Given the description of an element on the screen output the (x, y) to click on. 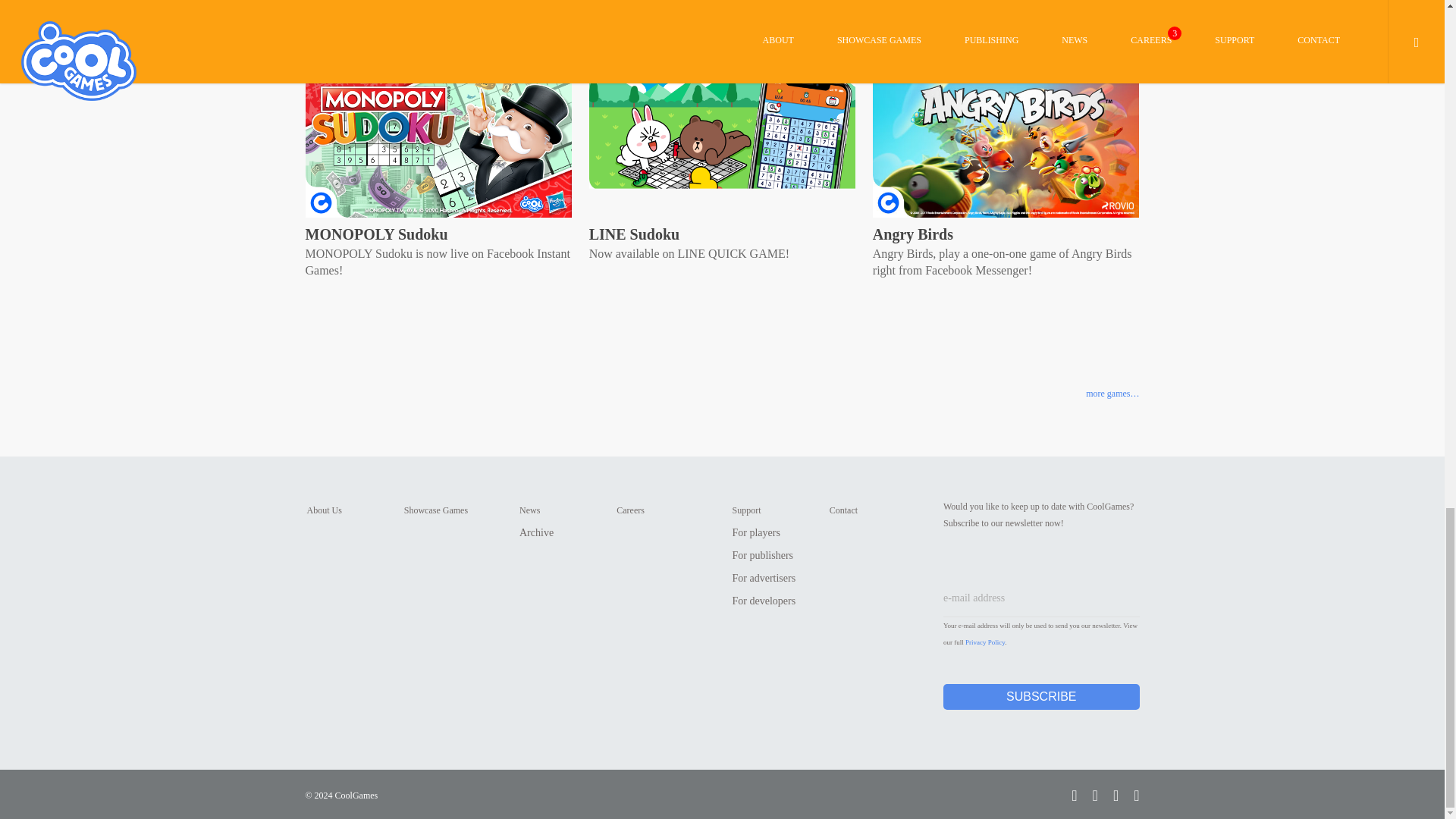
Showcase Games (435, 510)
Careers (630, 510)
Archive (536, 532)
Support (746, 510)
Contact (843, 510)
For players (756, 532)
About Us (322, 510)
News (529, 510)
For advertisers (764, 577)
Subscribe (1041, 696)
For publishers (762, 555)
